Given the description of an element on the screen output the (x, y) to click on. 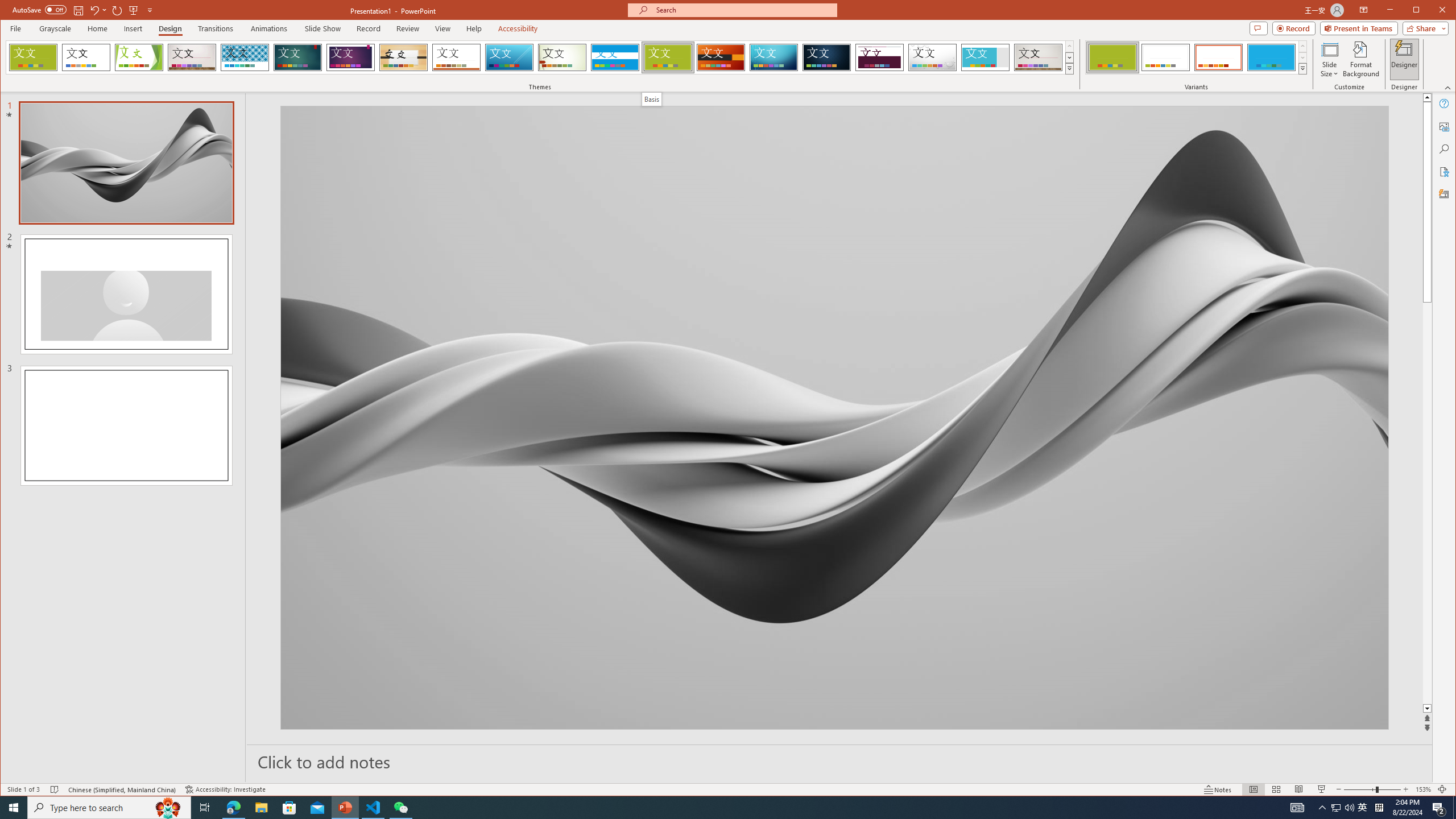
Basis Variant 3 (1218, 57)
Basis Variant 2 (1165, 57)
Wavy 3D art (835, 417)
